Given the description of an element on the screen output the (x, y) to click on. 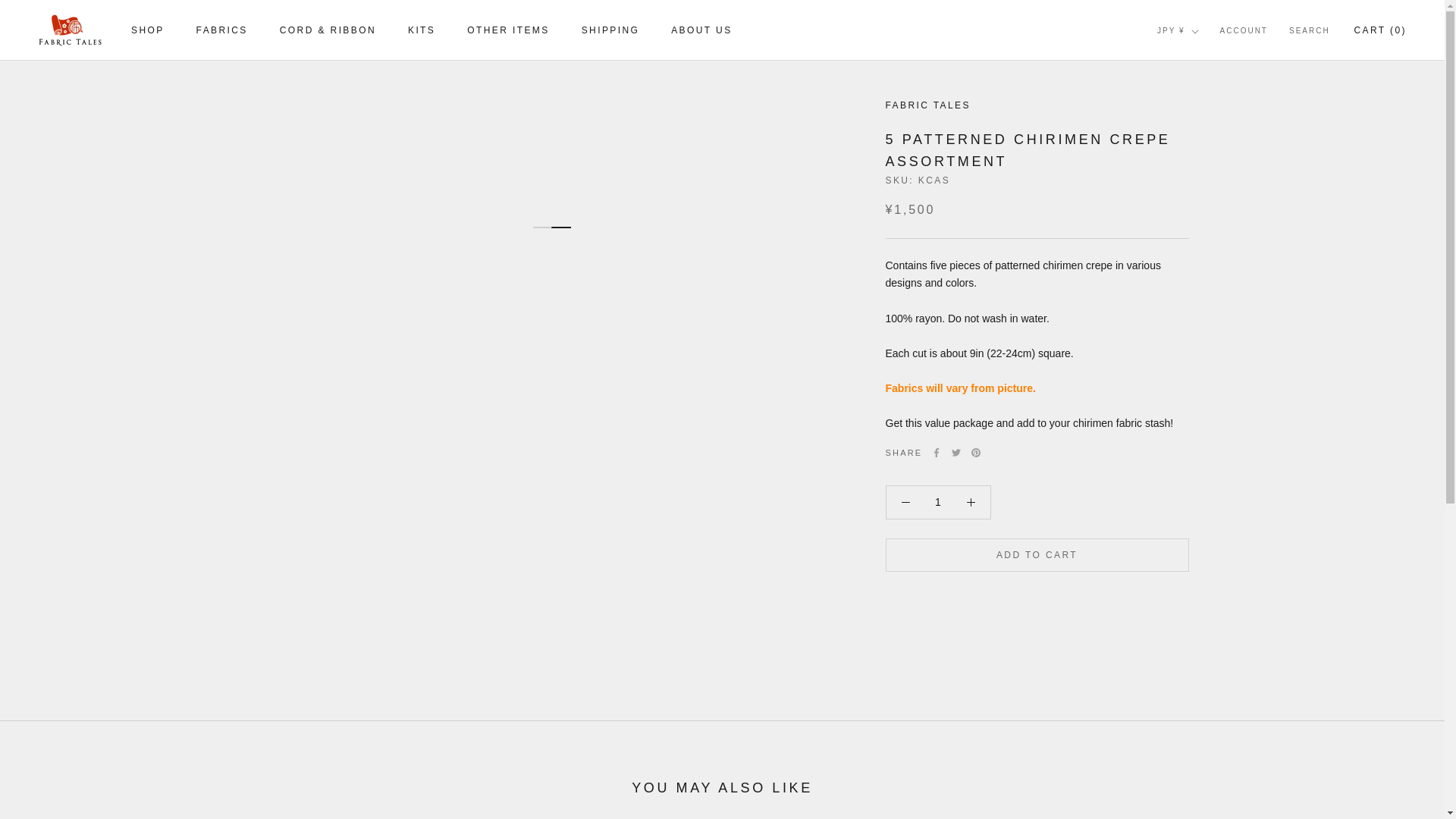
1 (938, 501)
